Given the description of an element on the screen output the (x, y) to click on. 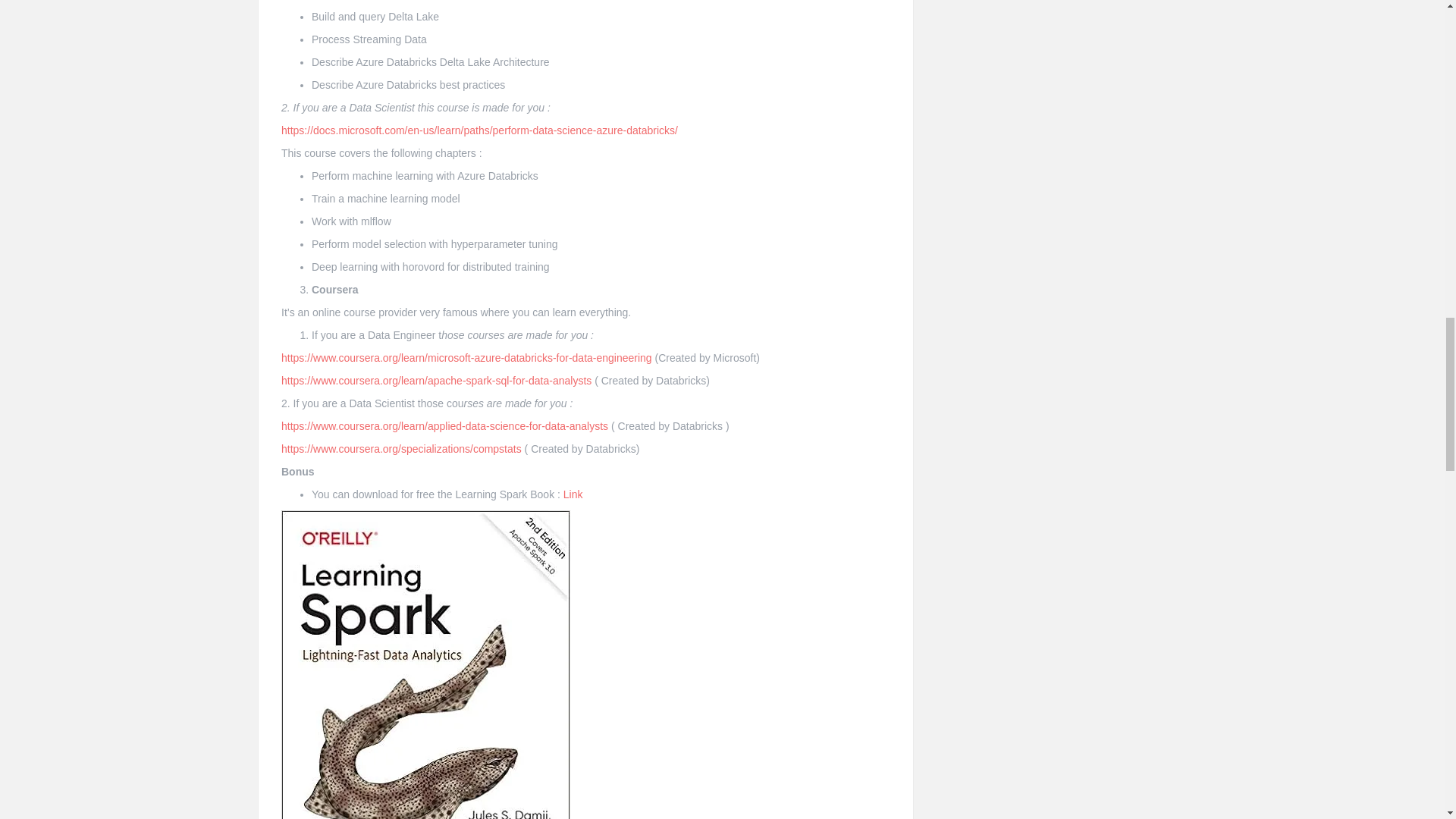
Link (573, 494)
